Given the description of an element on the screen output the (x, y) to click on. 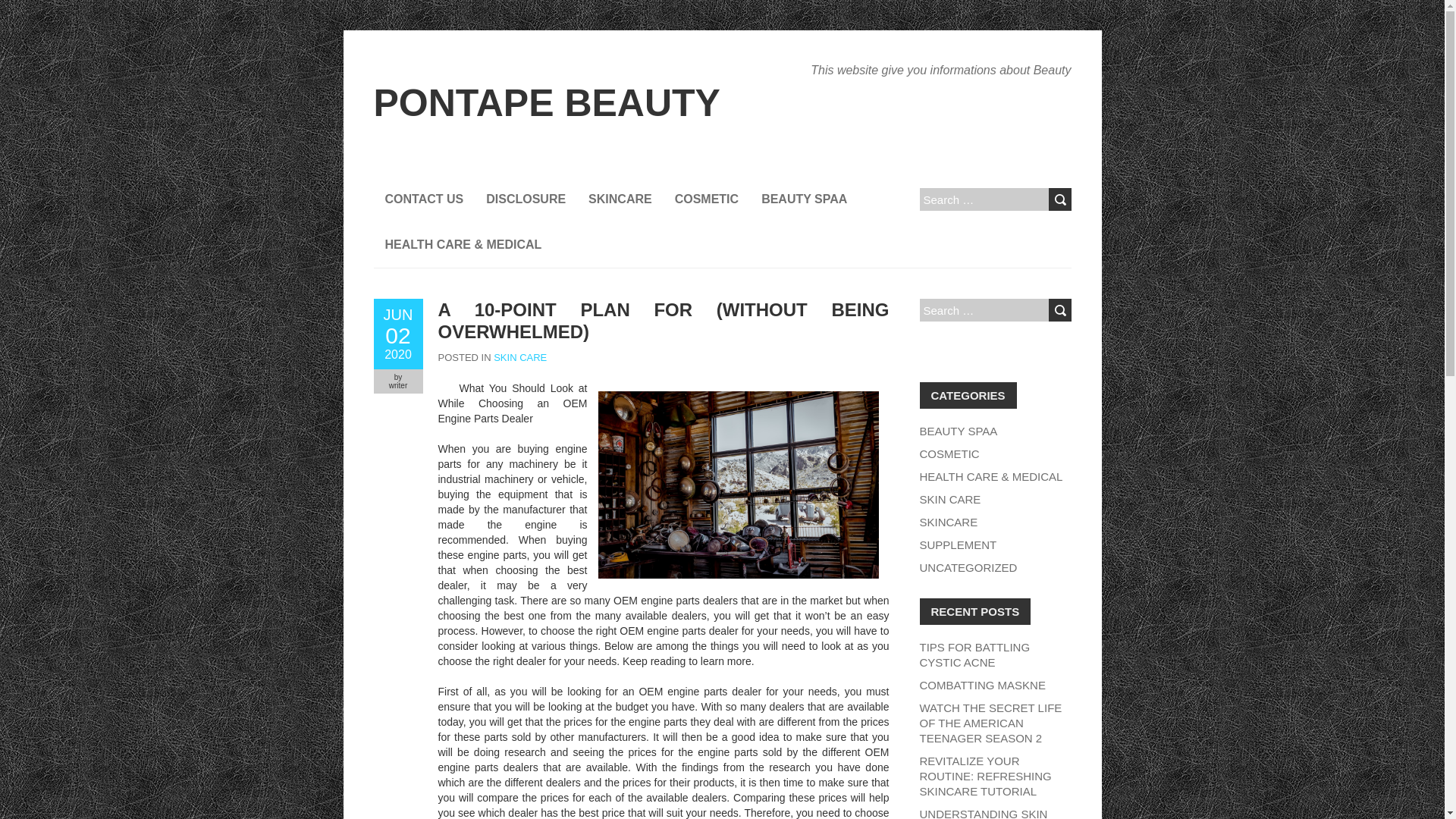
WATCH THE SECRET LIFE OF THE AMERICAN TEENAGER SEASON 2 (989, 722)
SKIN CARE (520, 357)
SKINCARE (947, 521)
Pontape Beauty (545, 102)
Search (397, 333)
PONTAPE BEAUTY (1059, 199)
TIPS FOR BATTLING CYSTIC ACNE (545, 102)
SUPPLEMENT (973, 654)
DISCLOSURE (956, 544)
Search (525, 198)
Search (1059, 309)
CONTACT US (1059, 309)
REVITALIZE YOUR ROUTINE: REFRESHING SKINCARE TUTORIAL (423, 198)
Search (984, 775)
